Given the description of an element on the screen output the (x, y) to click on. 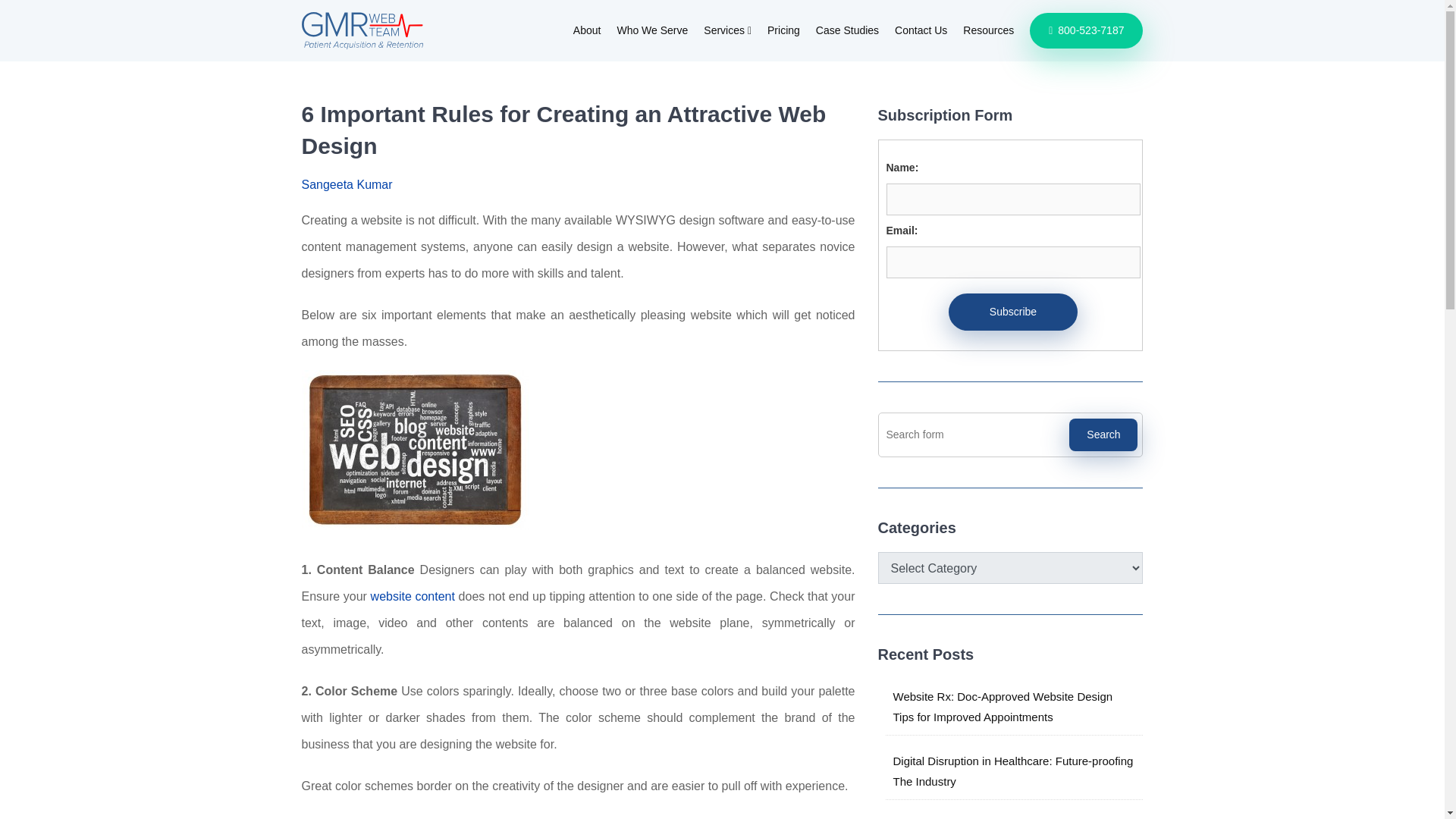
Who We Serve (651, 30)
Who We Serve (651, 30)
GMR Web Team (362, 29)
Search (1102, 434)
Subscribe (1013, 311)
